Given the description of an element on the screen output the (x, y) to click on. 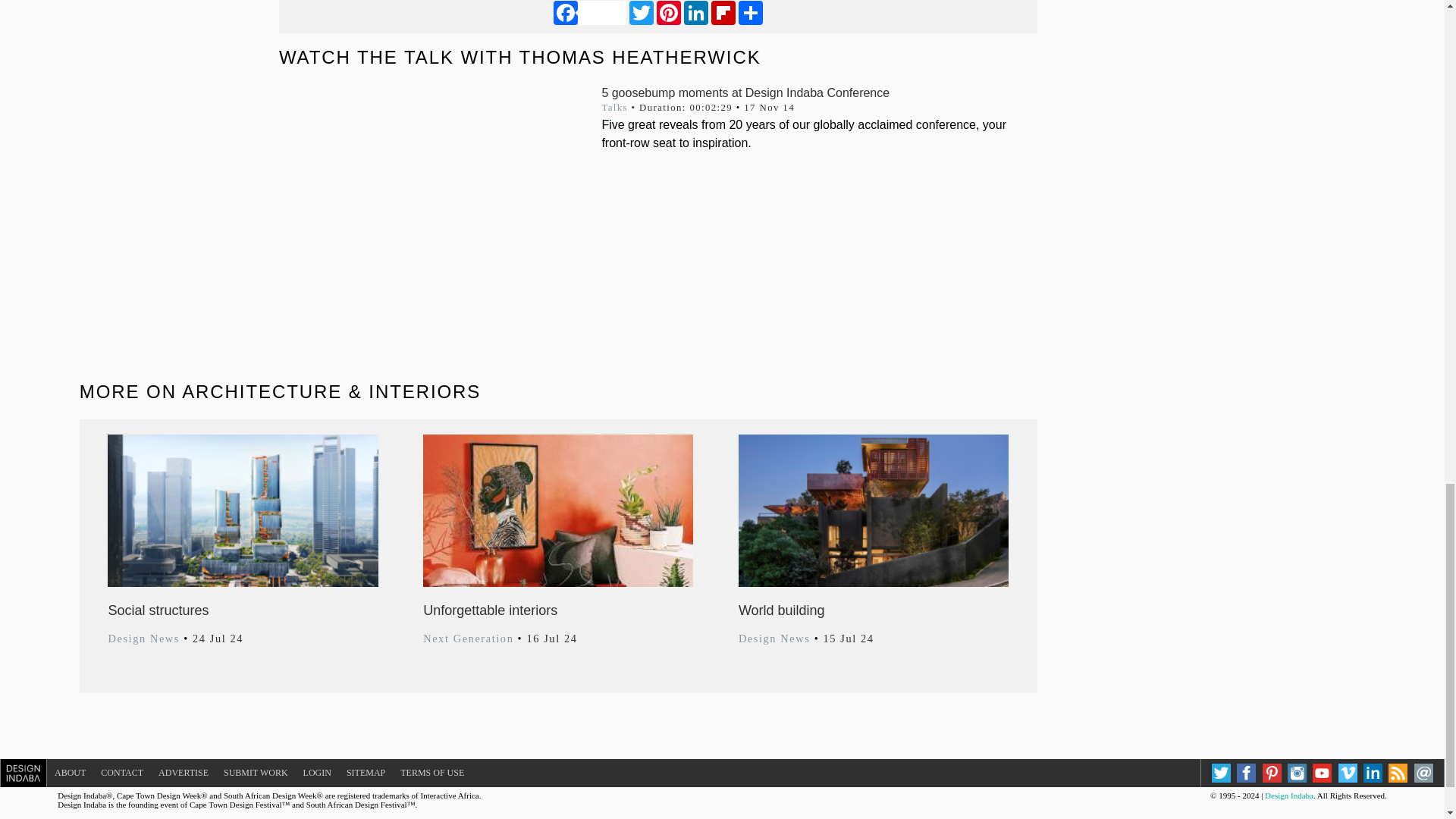
Facebook (589, 12)
